Given the description of an element on the screen output the (x, y) to click on. 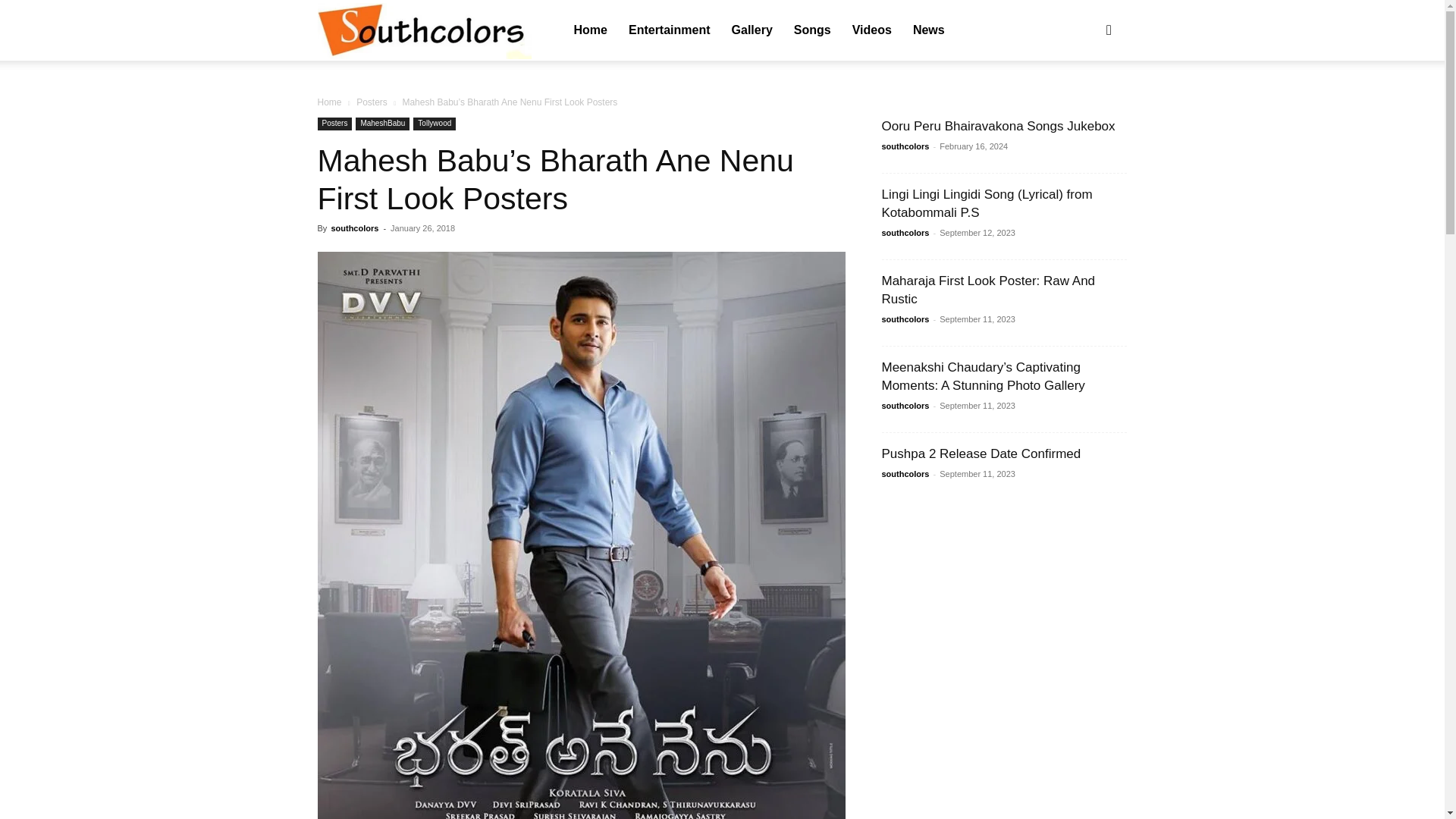
southcolors (424, 30)
Posters (371, 291)
Posters (334, 313)
Entertainment (675, 30)
SouthColors (424, 30)
Songs (838, 30)
Home (590, 30)
Videos (897, 30)
View all posts in Posters (371, 291)
Home (328, 291)
MaheshBabu (382, 313)
Search (1085, 102)
Gallery (771, 30)
